Given the description of an element on the screen output the (x, y) to click on. 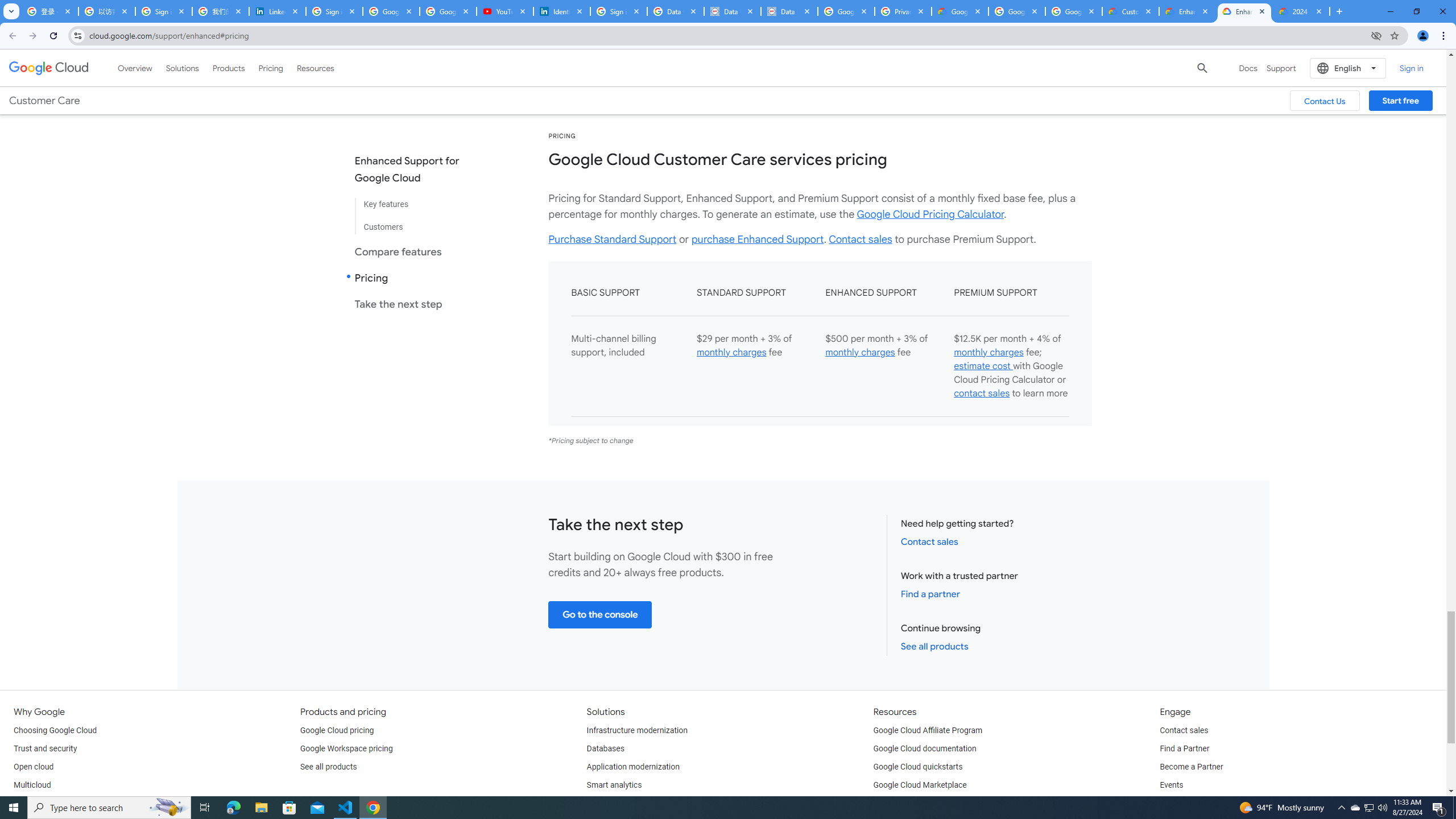
Docs (1248, 67)
Enhanced Support | Google Cloud (1244, 11)
Key features (416, 204)
Data Privacy Framework (788, 11)
Sign in - Google Accounts (334, 11)
Google Workspace - Specific Terms (1073, 11)
Go to the console (600, 614)
